Given the description of an element on the screen output the (x, y) to click on. 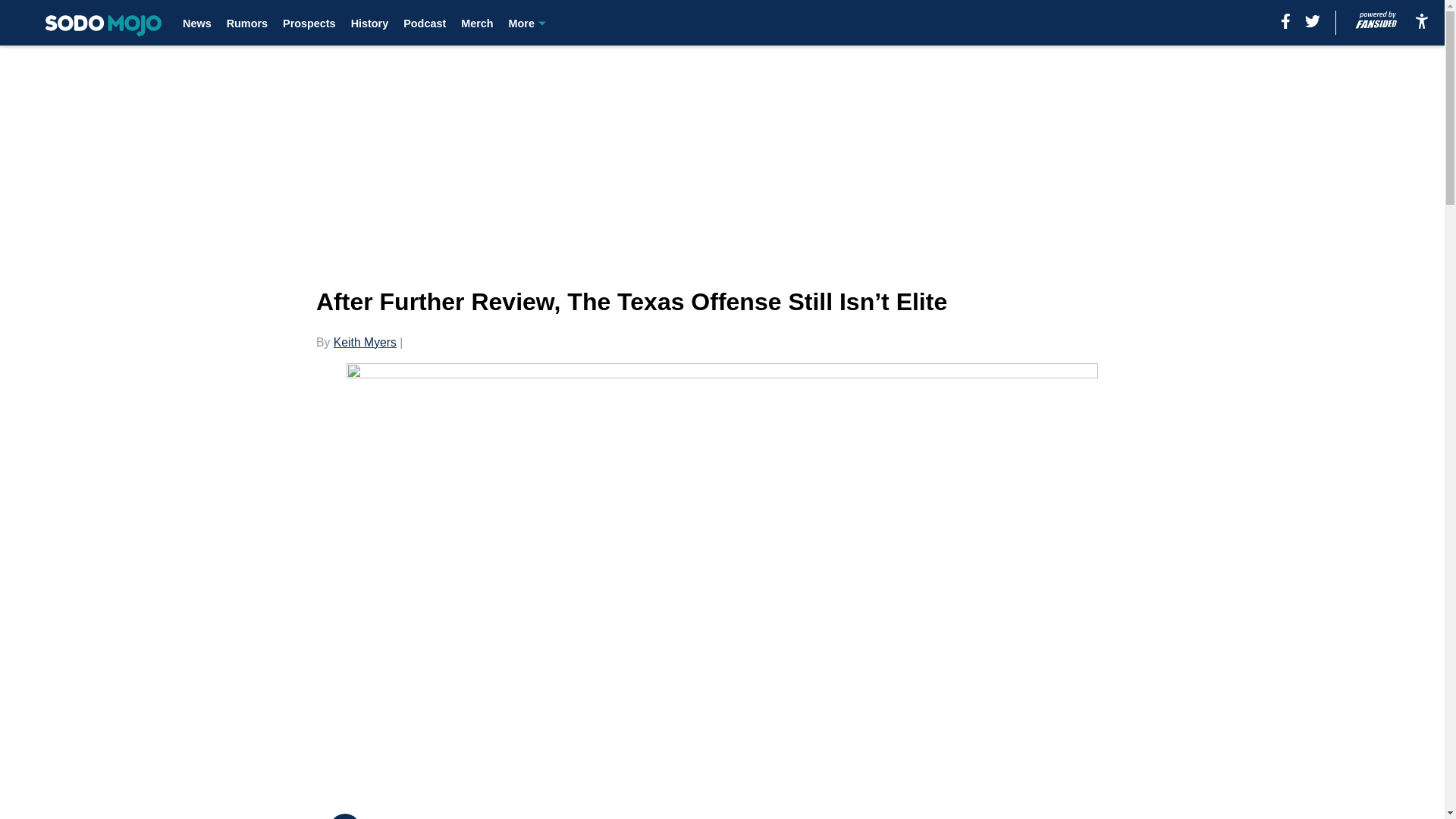
History (369, 23)
Merch (477, 23)
Keith Myers (364, 341)
Prospects (309, 23)
Rumors (247, 23)
Podcast (424, 23)
News (197, 23)
